Given the description of an element on the screen output the (x, y) to click on. 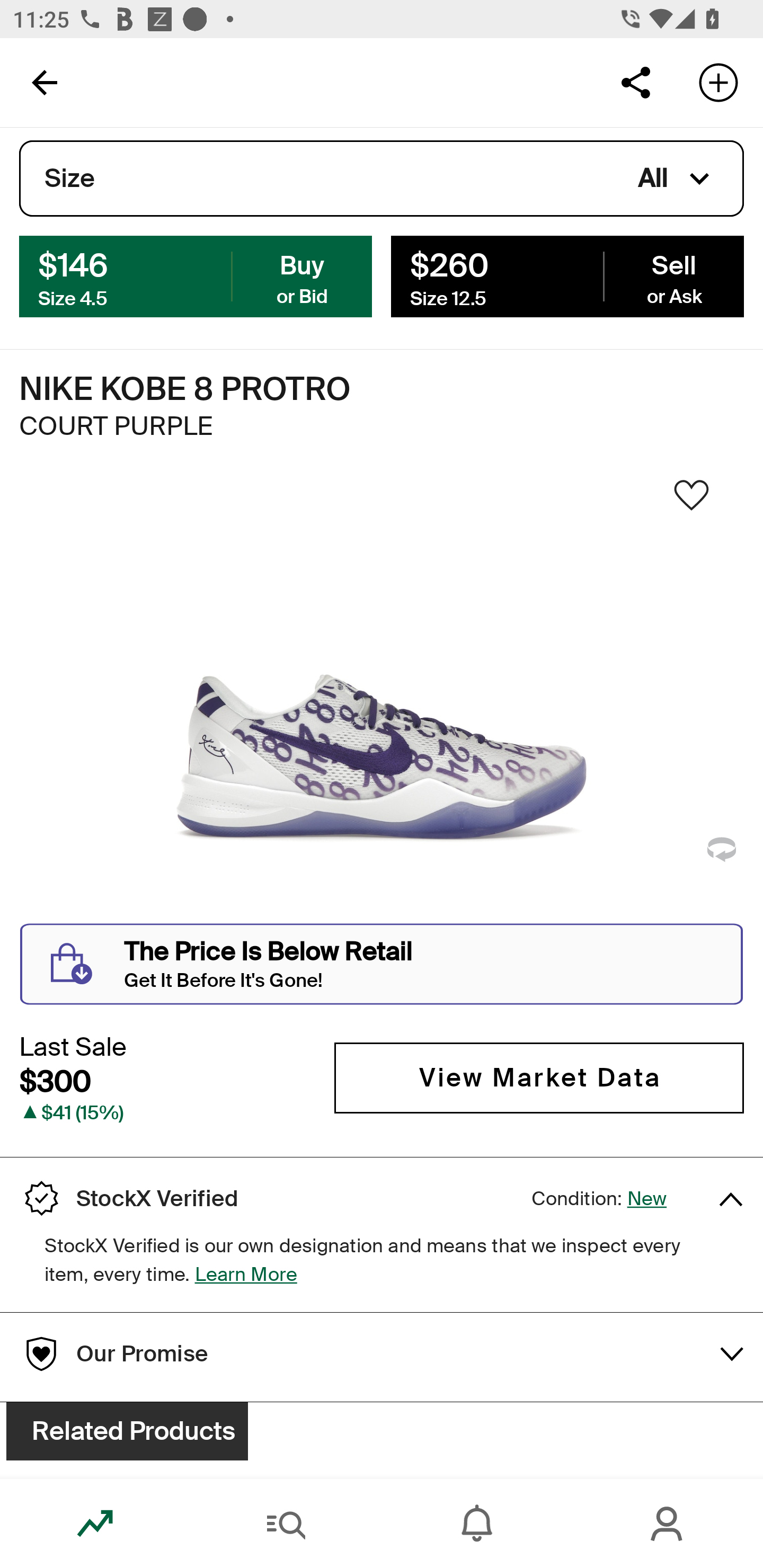
Share (635, 81)
Add (718, 81)
Size All (381, 178)
$146 Buy Size 4.5 or Bid (195, 275)
$260 Sell Size 12.5 or Ask (566, 275)
Sneaker Image (381, 699)
View Market Data (538, 1077)
Search (285, 1523)
Inbox (476, 1523)
Account (667, 1523)
